Given the description of an element on the screen output the (x, y) to click on. 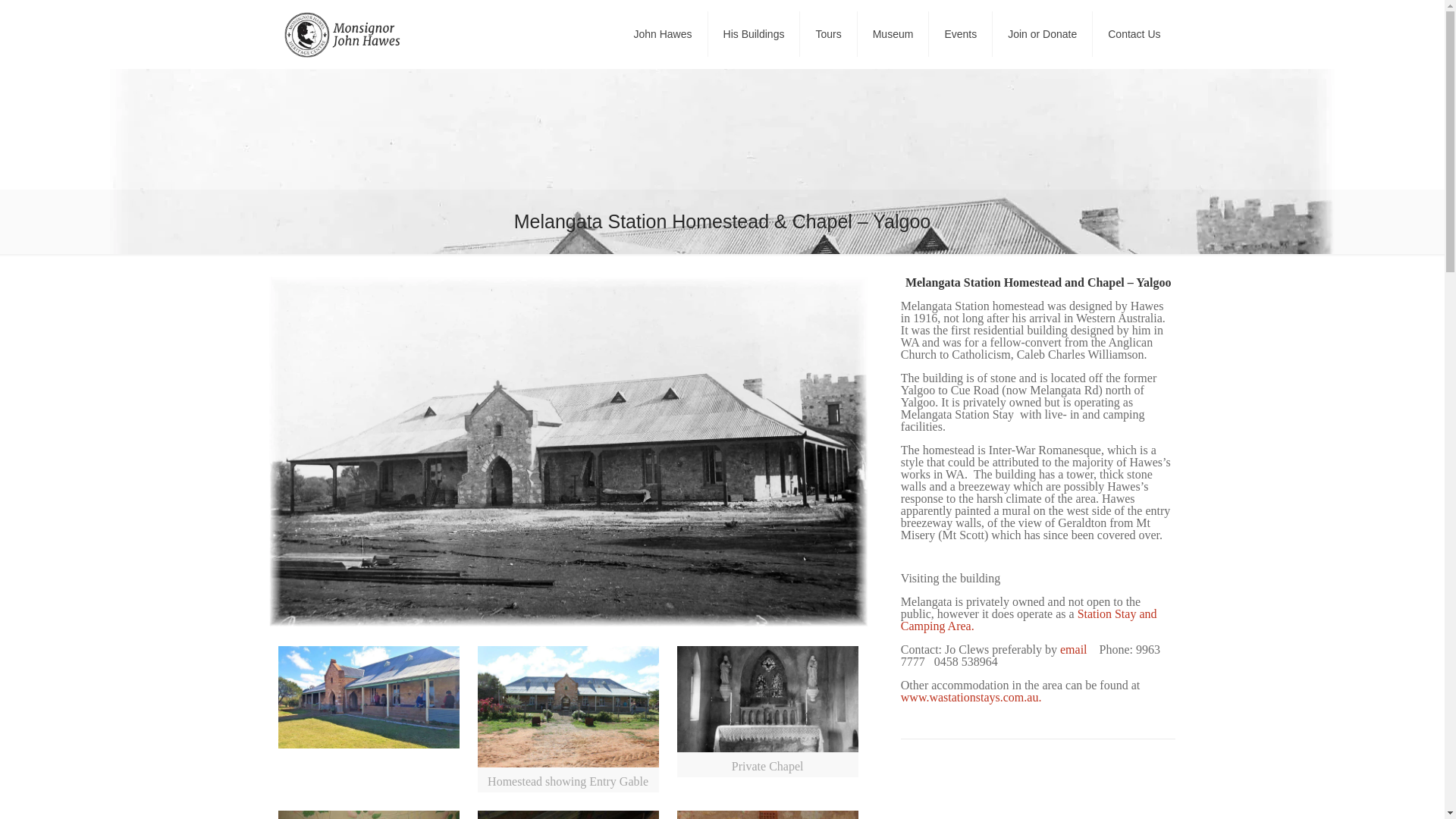
His Buildings (753, 33)
Monsignor John Hawes (342, 33)
Events (960, 33)
John Hawes (662, 33)
Museum (893, 33)
Join or Donate (1042, 33)
